Given the description of an element on the screen output the (x, y) to click on. 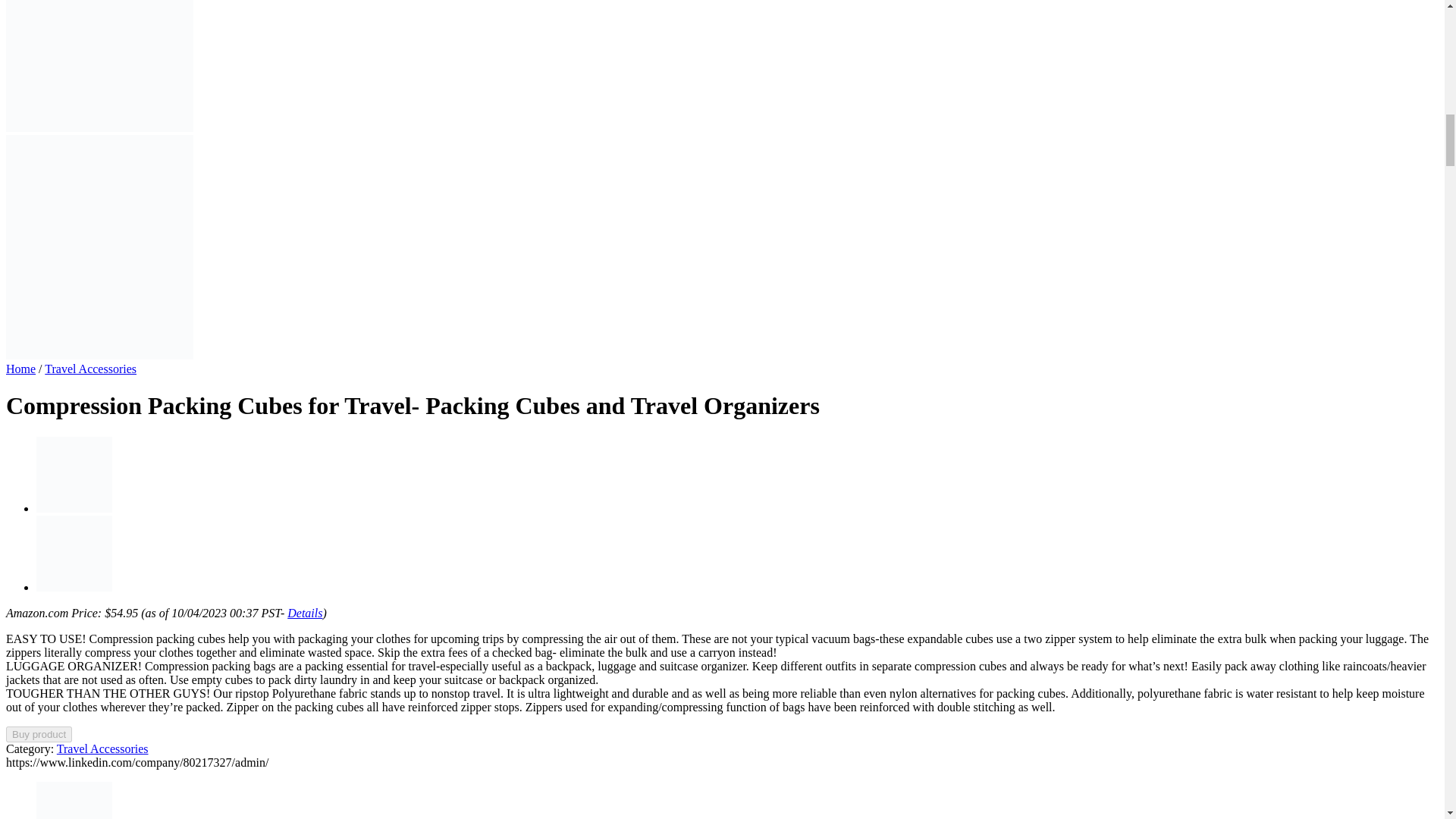
Details (303, 612)
Buy product (38, 734)
Travel Accessories (90, 368)
Home (19, 368)
Travel Accessories (102, 748)
